Given the description of an element on the screen output the (x, y) to click on. 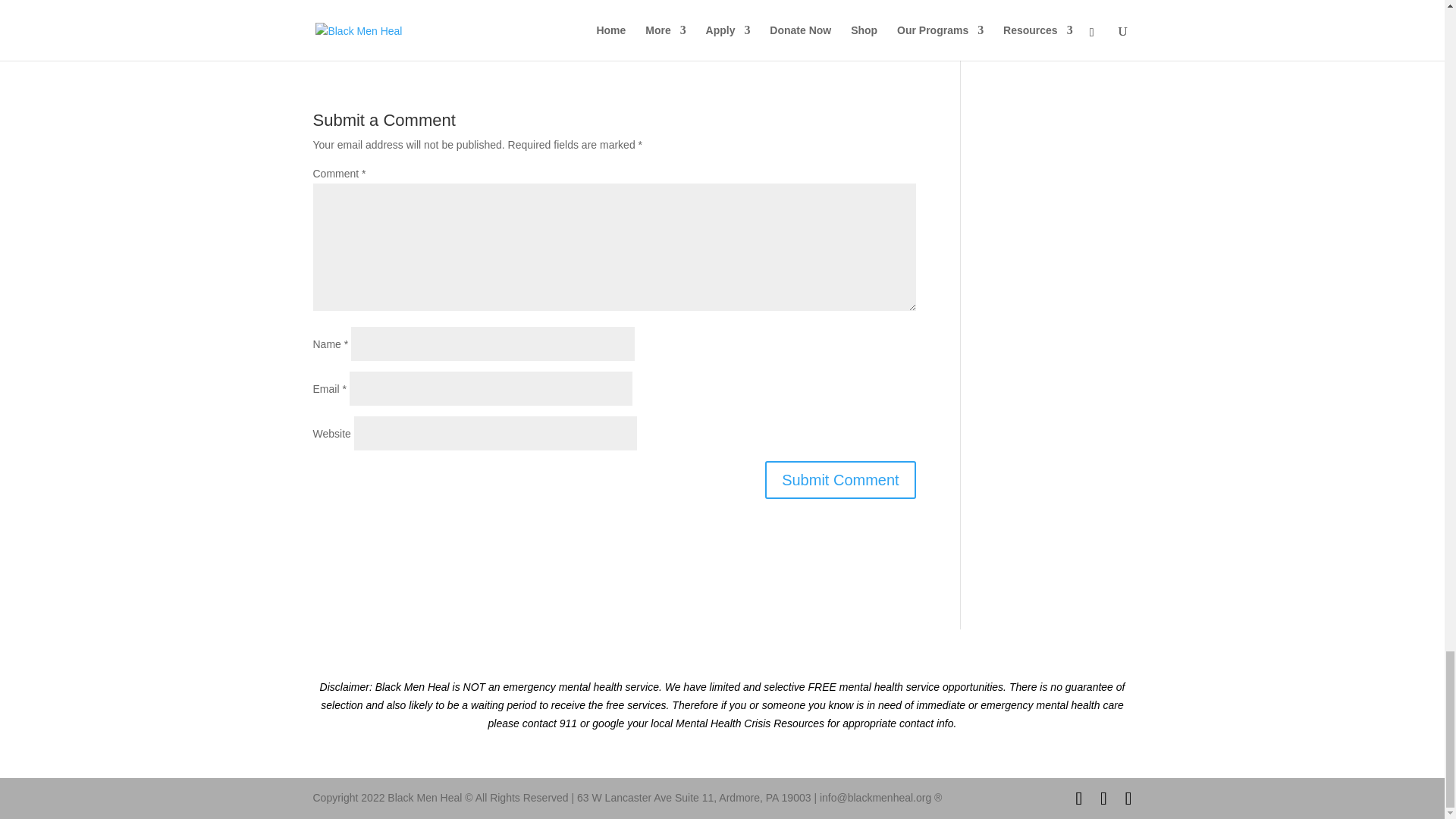
Submit Comment (840, 479)
KEVIN FOODIE (432, 7)
Reply (901, 11)
Submit Comment (840, 479)
